Given the description of an element on the screen output the (x, y) to click on. 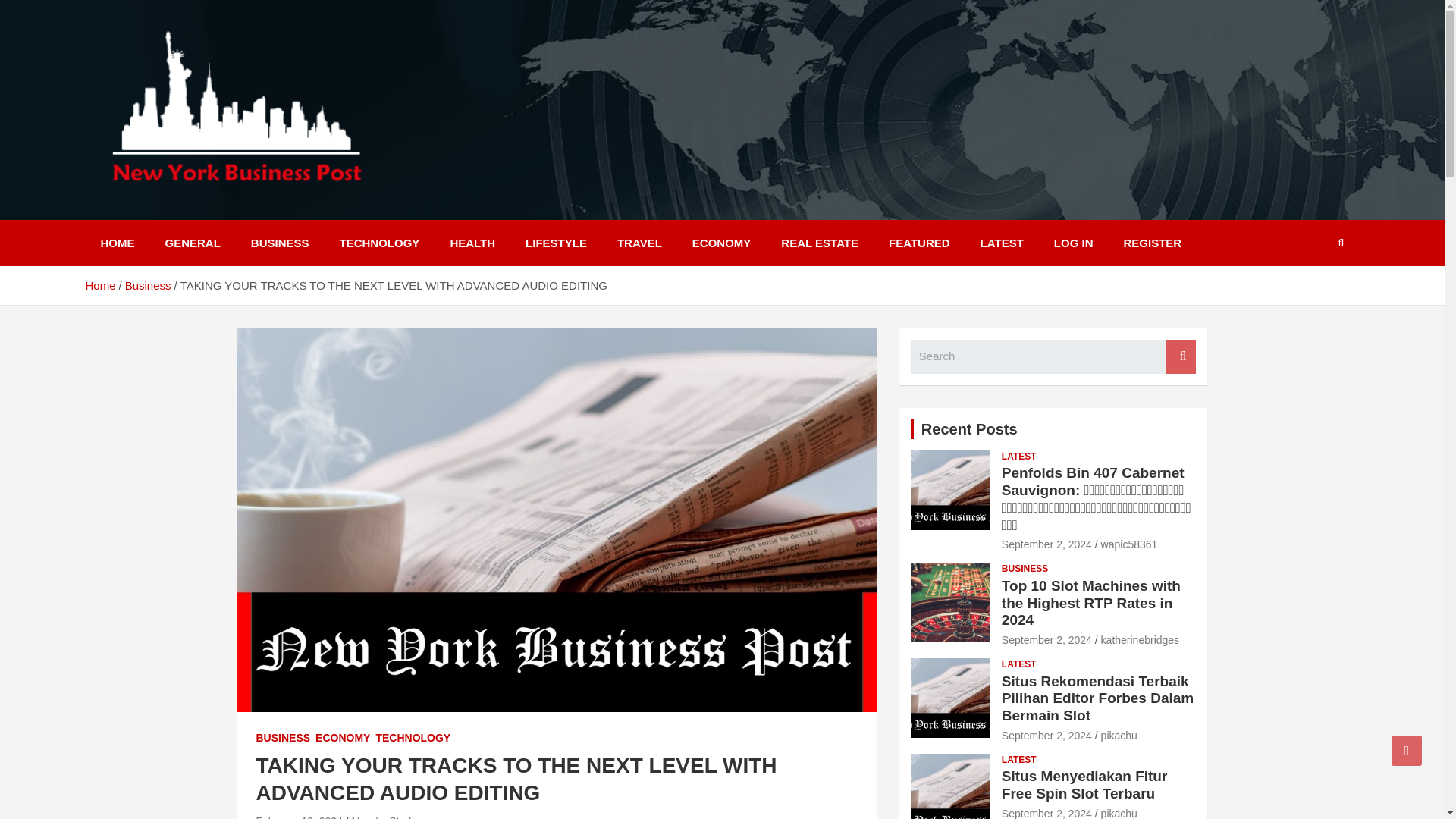
New York Business Post (261, 209)
BUSINESS (279, 243)
ECONOMY (722, 243)
Home (99, 285)
TECHNOLOGY (379, 243)
FEATURED (919, 243)
MorplayStudios (388, 816)
ECONOMY (342, 738)
Top 10 Slot Machines with the Highest RTP Rates in 2024 (1046, 639)
